Given the description of an element on the screen output the (x, y) to click on. 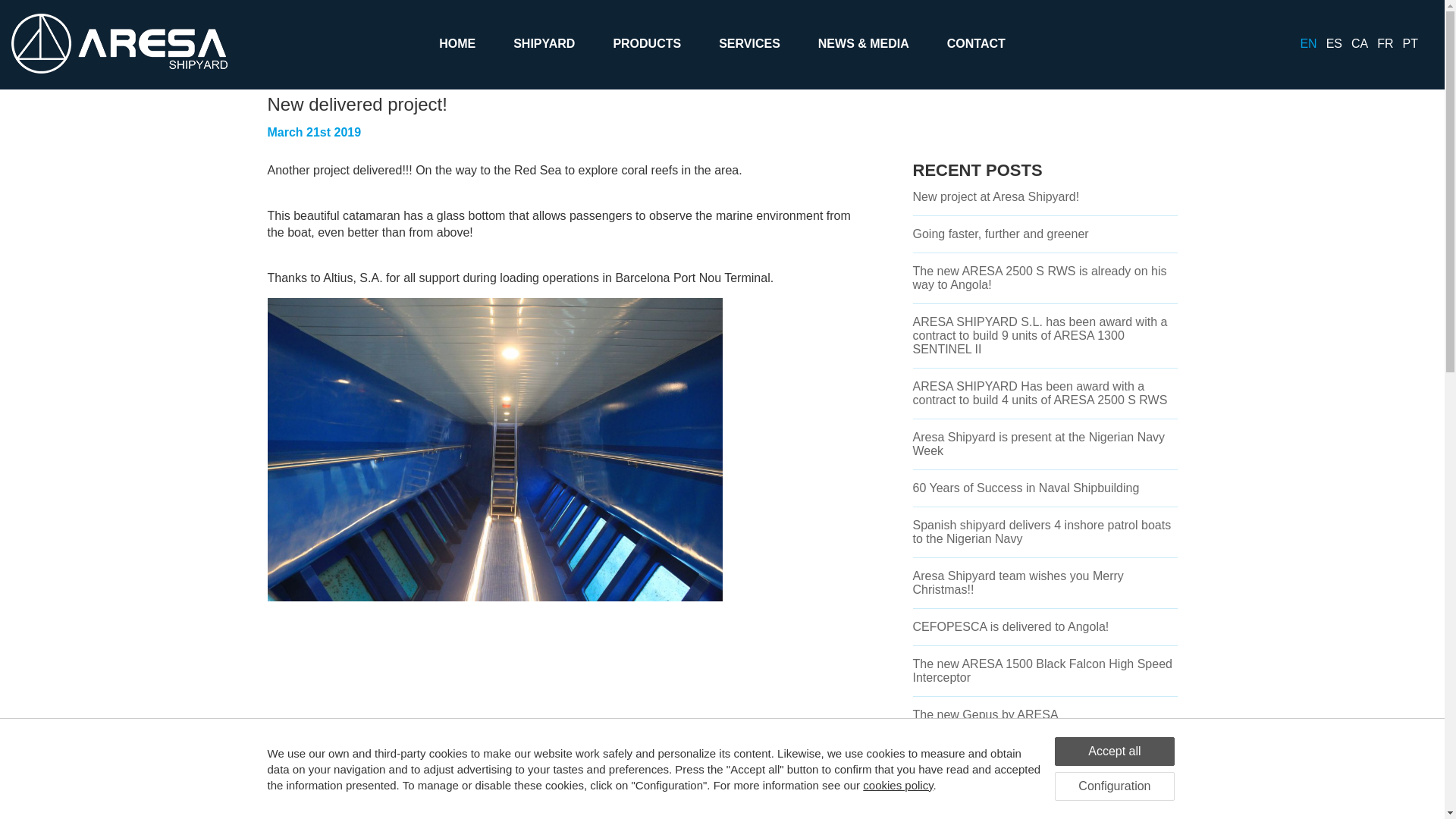
The new Gepus by ARESA (985, 714)
FR (1385, 42)
Home (280, 21)
 Aresa Shipyard wishes you Merry Christmas! (1033, 751)
Going faster, further and greener (1000, 233)
ES (1334, 42)
EN (1308, 42)
CA (1359, 42)
Going faster, further and greener (1000, 233)
Aresa Shipyard is present at the Nigerian Navy Week (1039, 443)
New project at Aresa Shipyard! (996, 196)
HOME (456, 34)
